Given the description of an element on the screen output the (x, y) to click on. 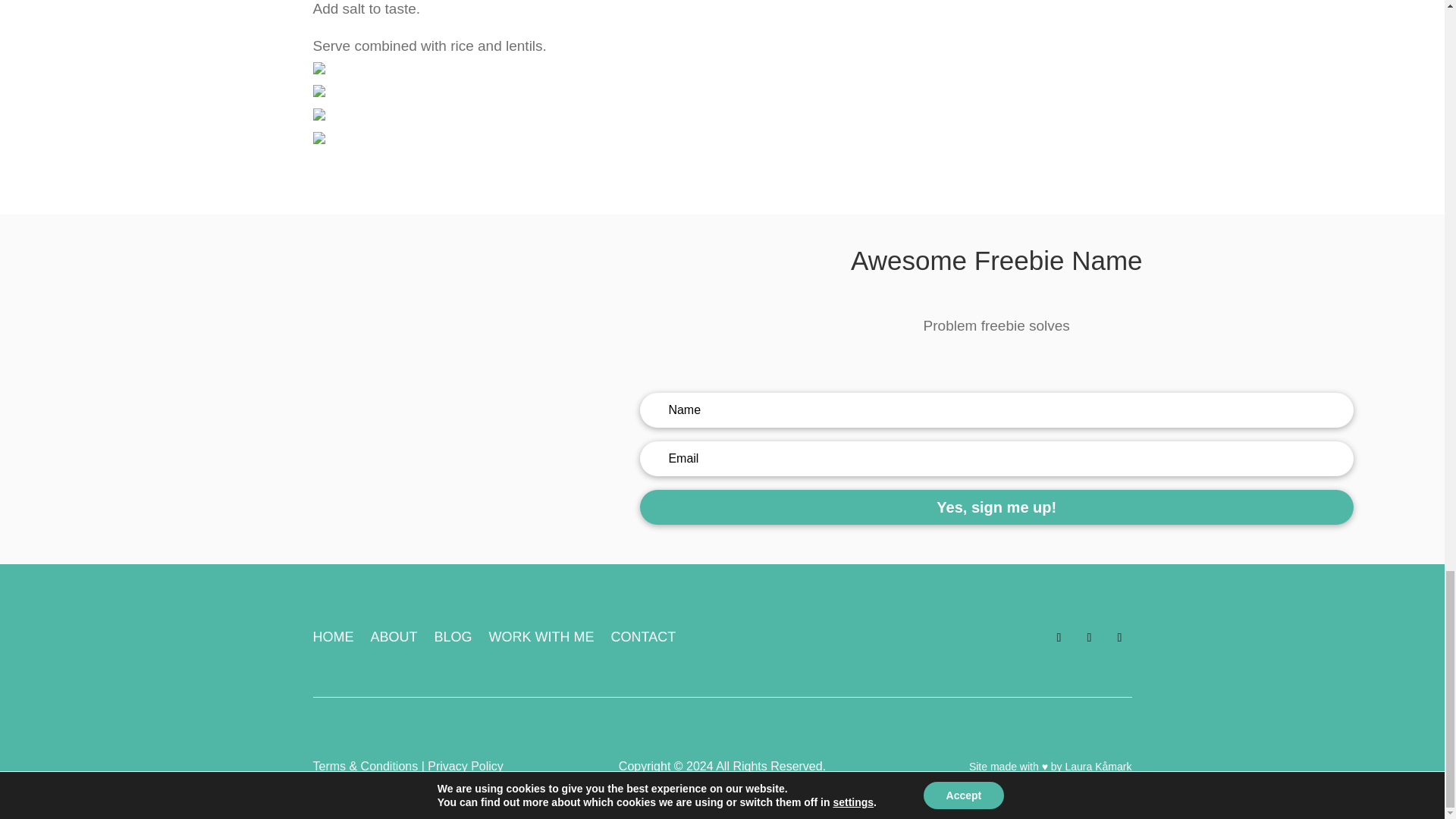
Follow on Youtube (1118, 637)
Follow on Facebook (1088, 637)
Follow on Instagram (1058, 637)
